Given the description of an element on the screen output the (x, y) to click on. 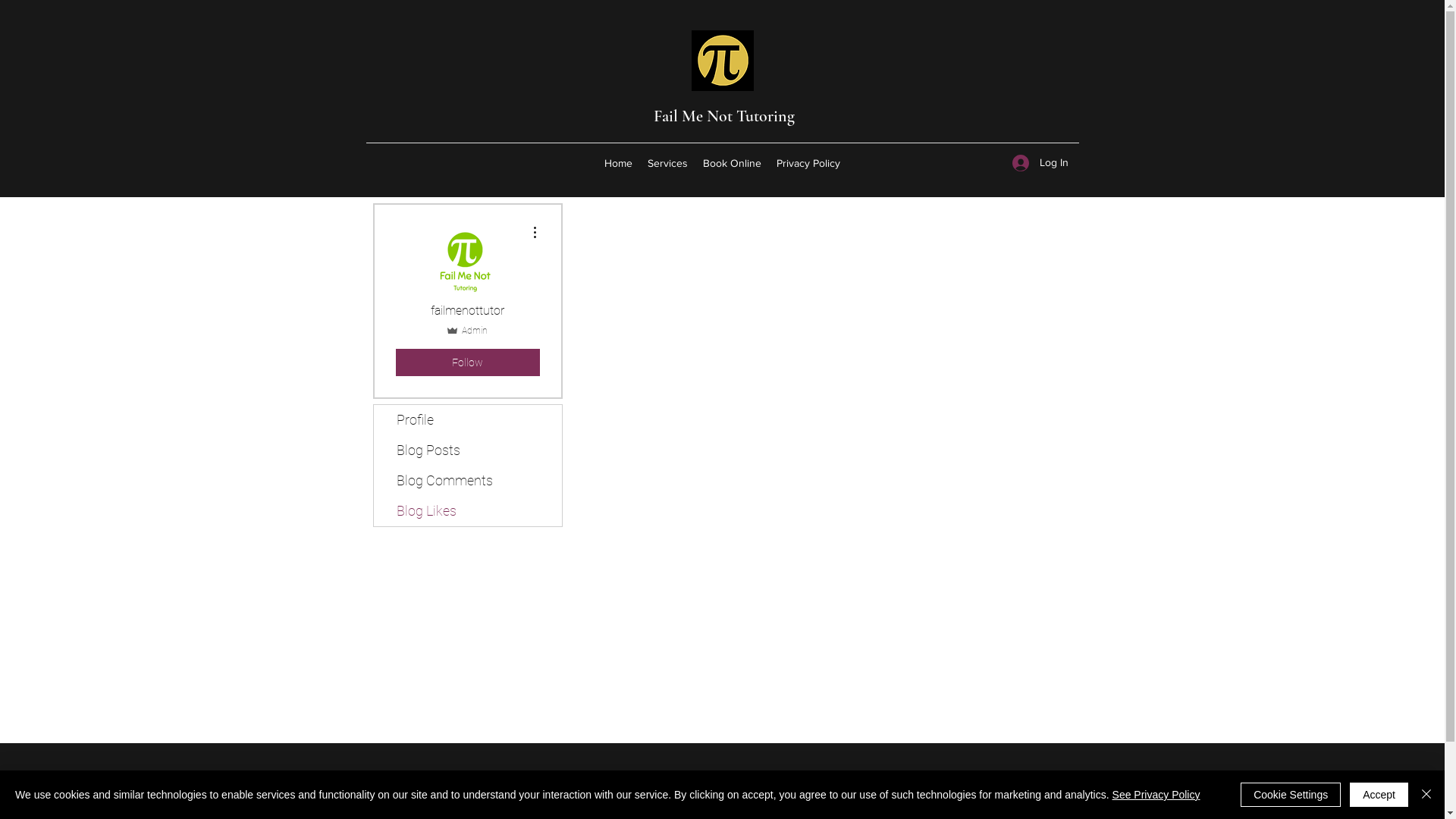
Log In Element type: text (1039, 162)
Privacy Policy Element type: text (807, 162)
Blog Posts Element type: text (467, 450)
Book Online Element type: text (731, 162)
Profile Element type: text (467, 419)
Blog Comments Element type: text (467, 480)
See Privacy Policy Element type: text (1156, 794)
Blog Likes Element type: text (467, 510)
Cookie Settings Element type: text (1290, 794)
Services Element type: text (667, 162)
Home Element type: text (618, 162)
Accept Element type: text (1378, 794)
Follow Element type: text (467, 362)
Fail Me Not Tutoring Element type: text (723, 115)
